Given the description of an element on the screen output the (x, y) to click on. 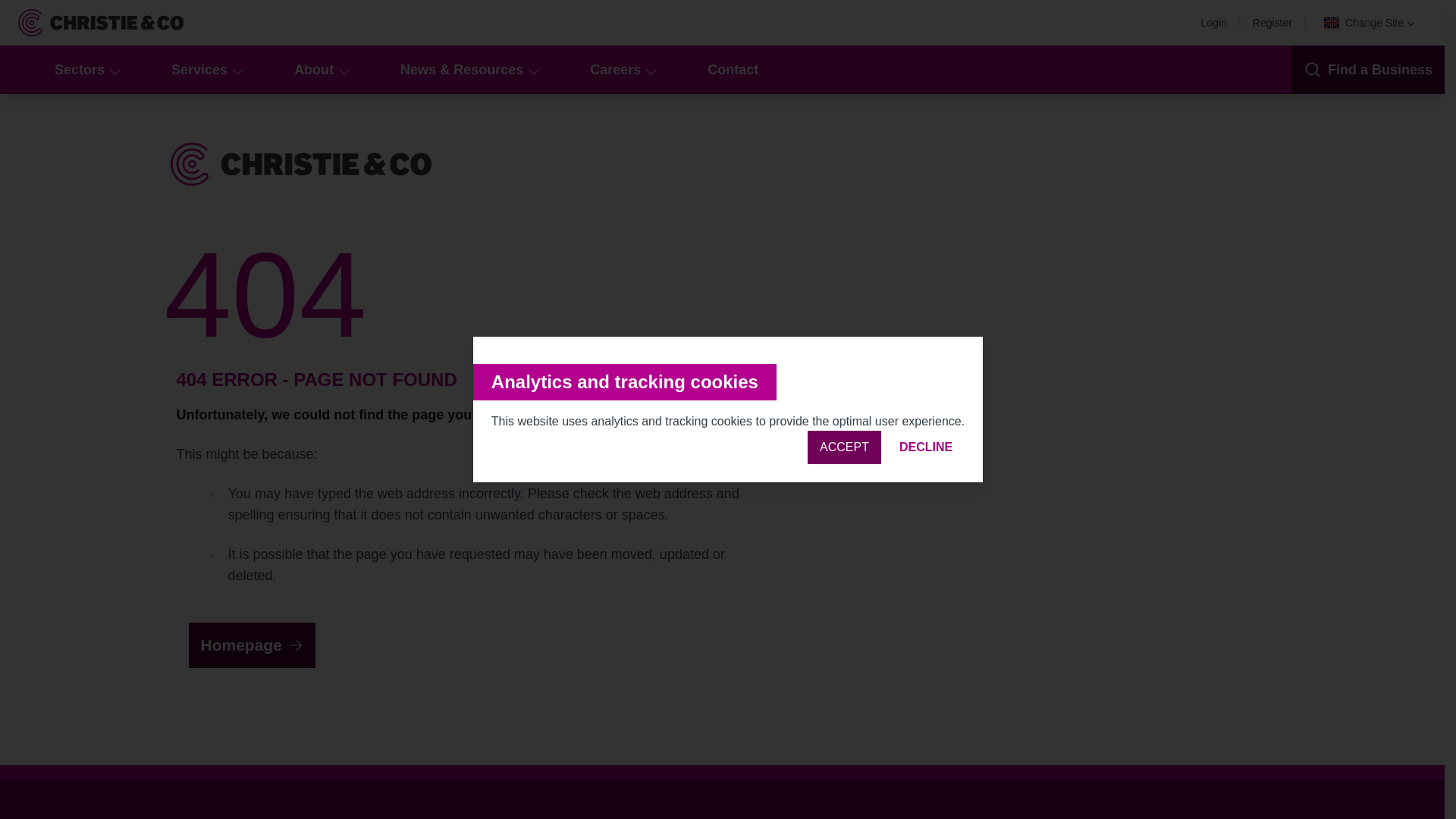
Contact (732, 70)
Homepage (250, 645)
Change Site (1369, 22)
Careers (621, 69)
Register (1276, 22)
Sectors (85, 69)
About (320, 69)
Login (1217, 22)
Services (204, 69)
